Given the description of an element on the screen output the (x, y) to click on. 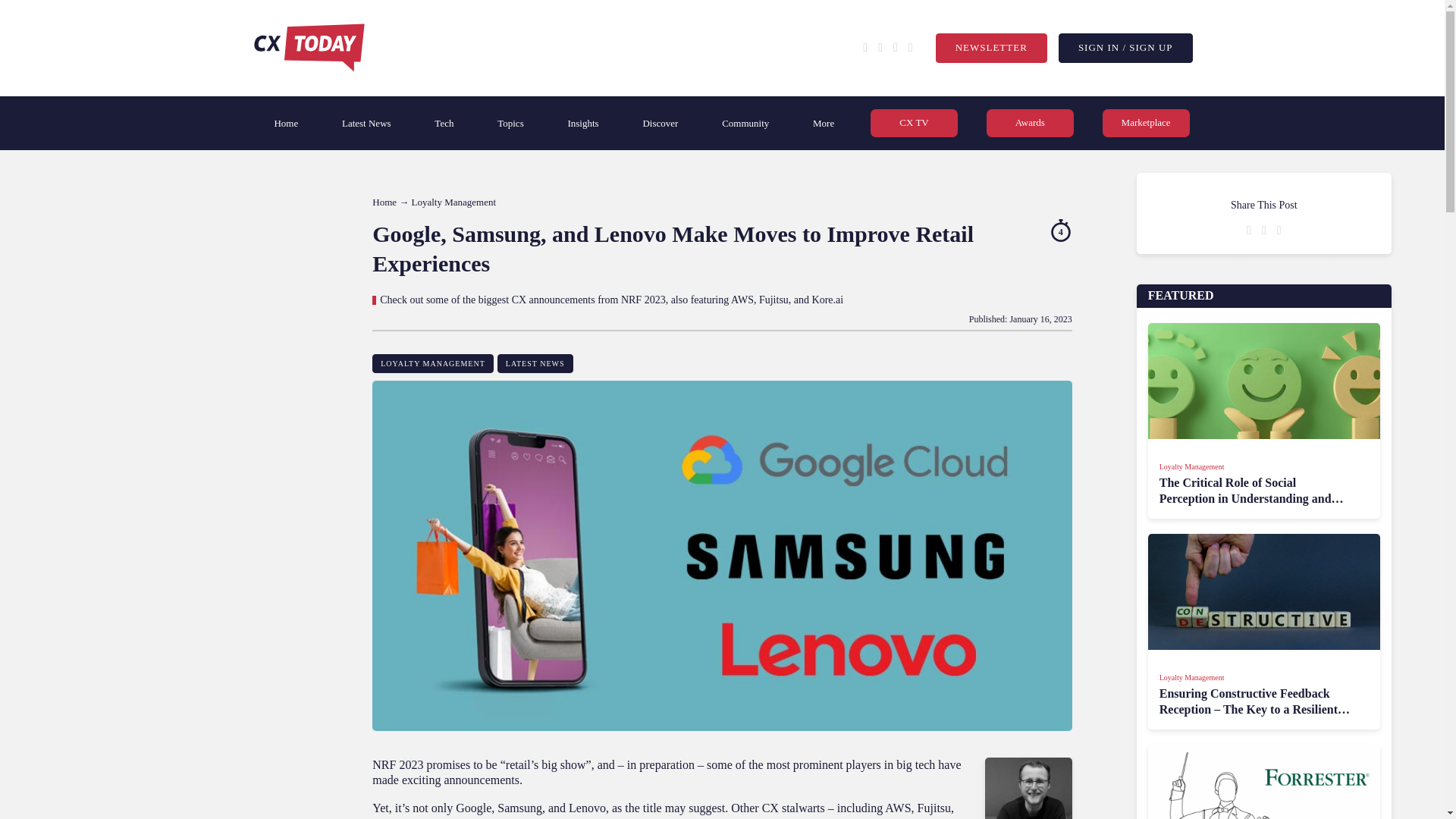
Discover (659, 122)
Home (285, 122)
Latest News (366, 122)
Tech (443, 122)
Insights (582, 122)
Topics (510, 122)
NEWSLETTER (991, 48)
